Given the description of an element on the screen output the (x, y) to click on. 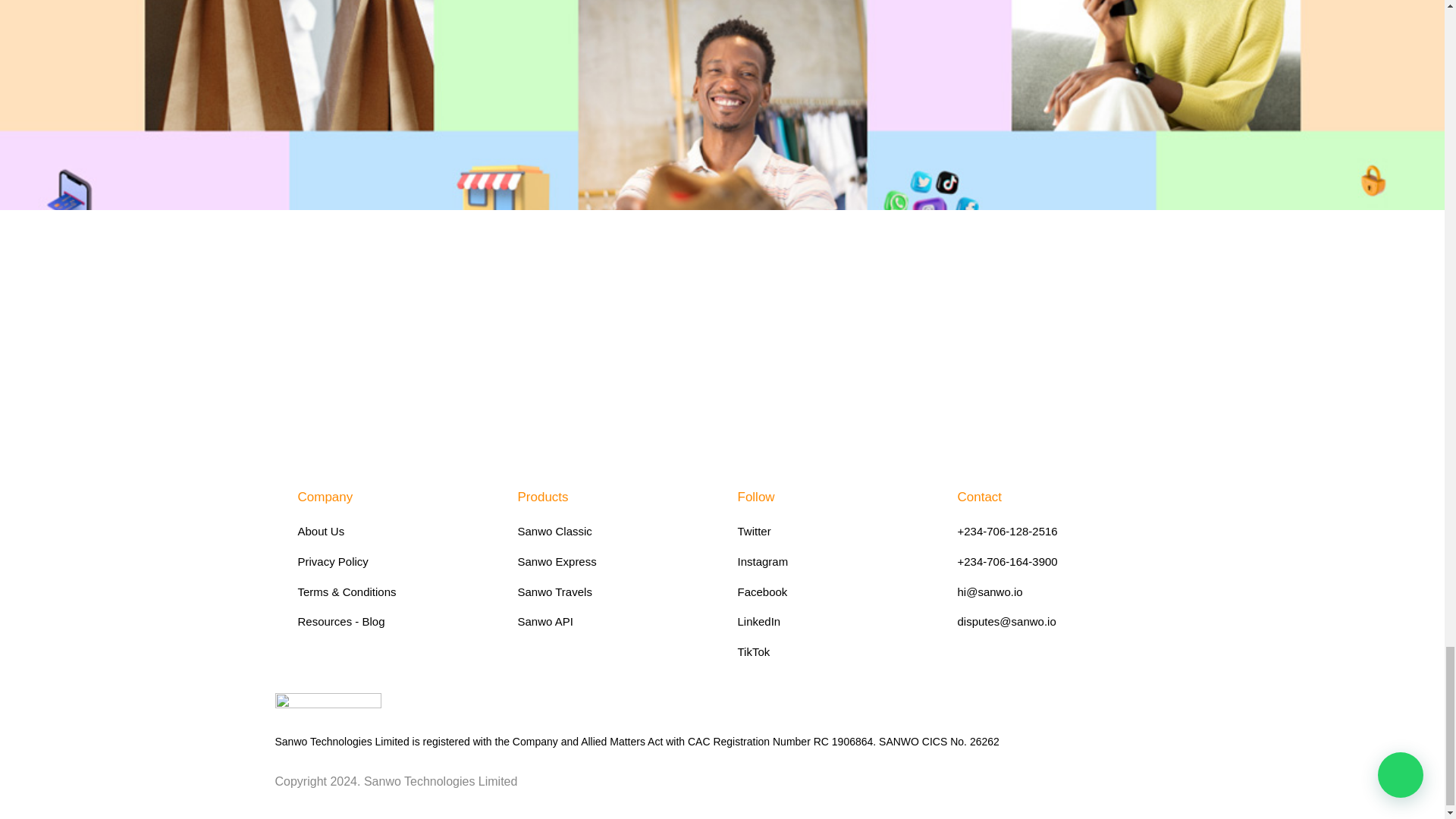
TikTok (831, 651)
About Us (391, 531)
Privacy Policy (391, 561)
Sanwo Classic (611, 531)
Twitter (831, 531)
Facebook (831, 591)
LinkedIn (831, 621)
Sanwo API (611, 621)
Instagram (831, 561)
Sanwo Express (611, 561)
Resources - Blog (391, 621)
Sanwo Travels (611, 591)
